Given the description of an element on the screen output the (x, y) to click on. 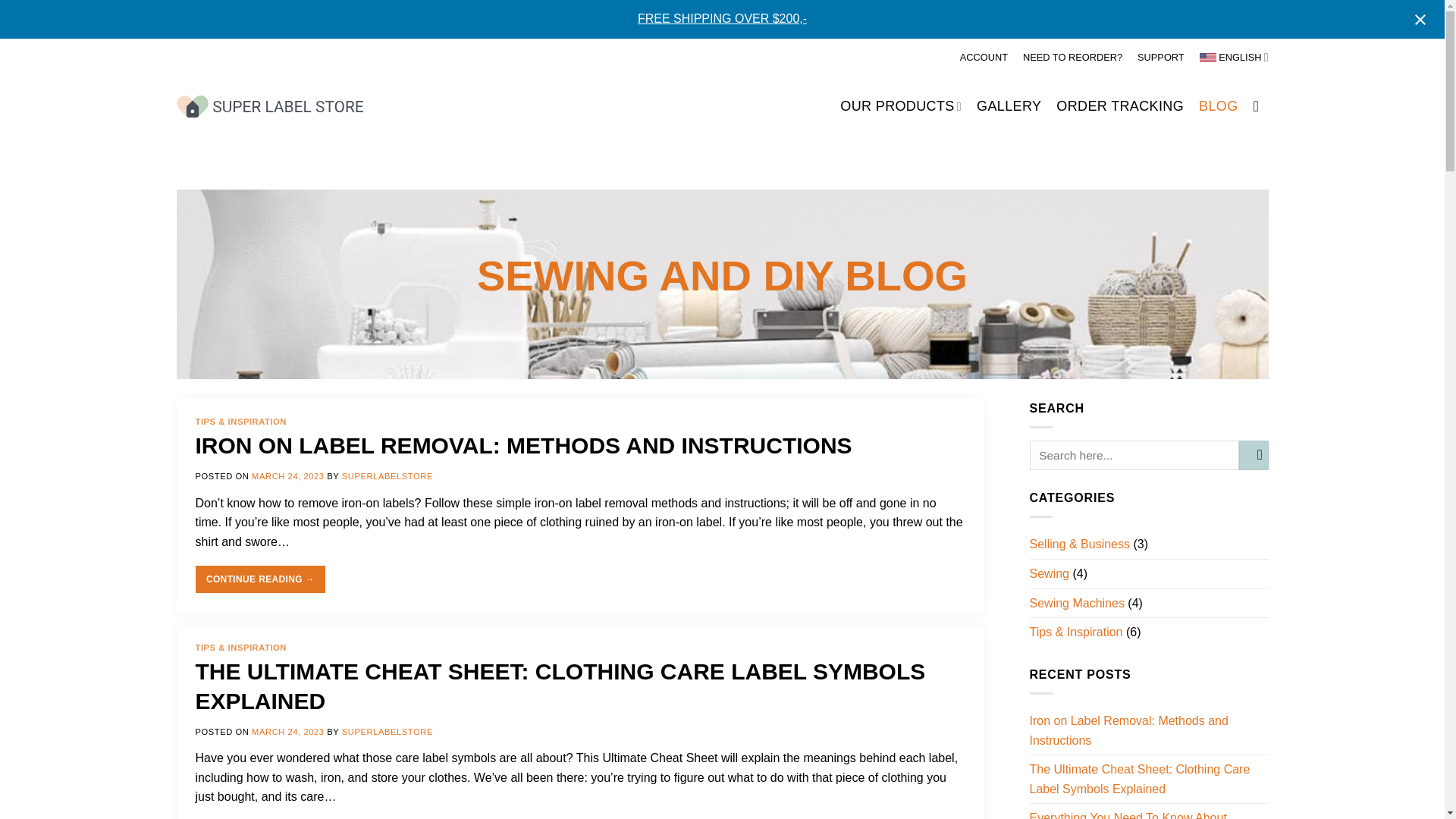
GALLERY (1008, 105)
OUR PRODUCTS (900, 106)
SUPERLABELSTORE (387, 731)
NEED TO REORDER? (1072, 57)
ACCOUNT (983, 57)
ORDER TRACKING (1120, 105)
BLOG (1217, 105)
Superlabelstore (269, 106)
SUPPORT (1161, 57)
